Given the description of an element on the screen output the (x, y) to click on. 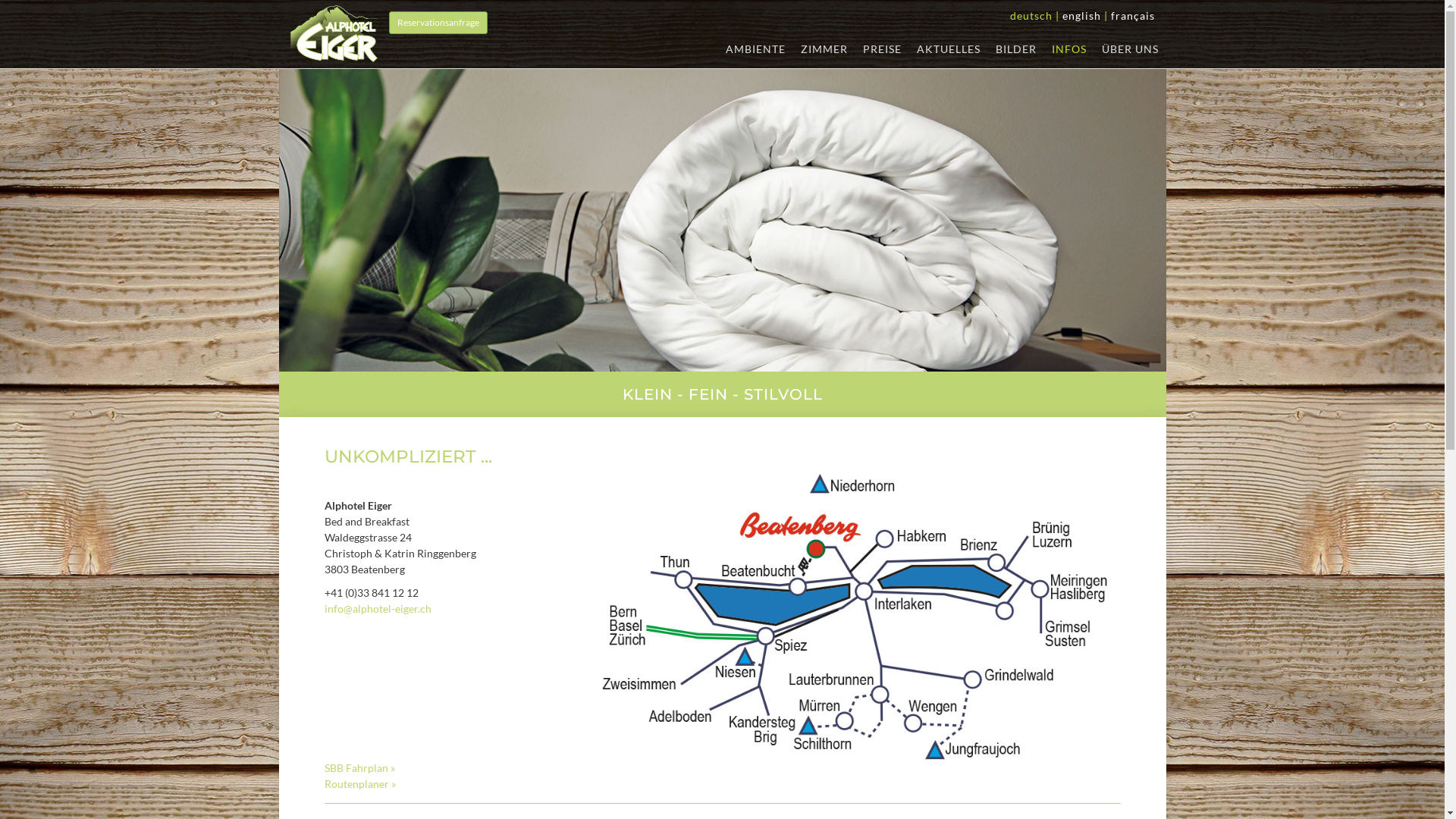
ZIMMER Element type: text (824, 49)
AKTUELLES Element type: text (947, 49)
AMBIENTE Element type: text (754, 49)
Reservationsanfrage Element type: text (438, 22)
PREISE Element type: text (882, 49)
INFOS Element type: text (1068, 49)
english Element type: text (1080, 15)
info@alphotel-eiger.ch Element type: text (377, 608)
BILDER Element type: text (1015, 49)
